Given the description of an element on the screen output the (x, y) to click on. 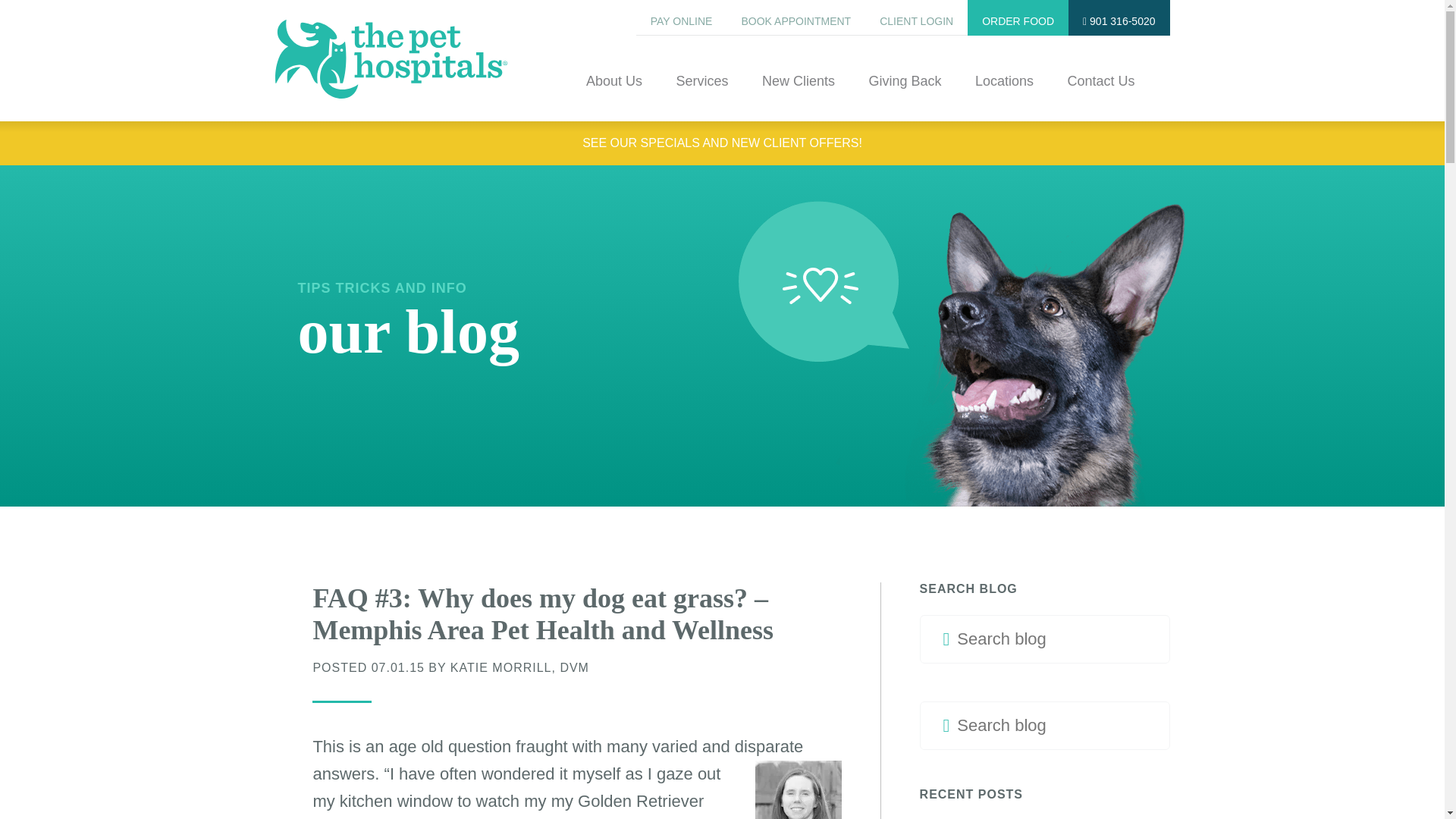
Pay Online (681, 17)
Giving Back (903, 97)
Services (701, 97)
BOOK APPOINTMENT (795, 17)
901 316-5020 (1118, 17)
About Us (614, 97)
ORDER FOOD (1018, 17)
Pay Online (681, 17)
CLIENT LOGIN (915, 17)
New Clients (797, 97)
Locations (1004, 97)
